Given the description of an element on the screen output the (x, y) to click on. 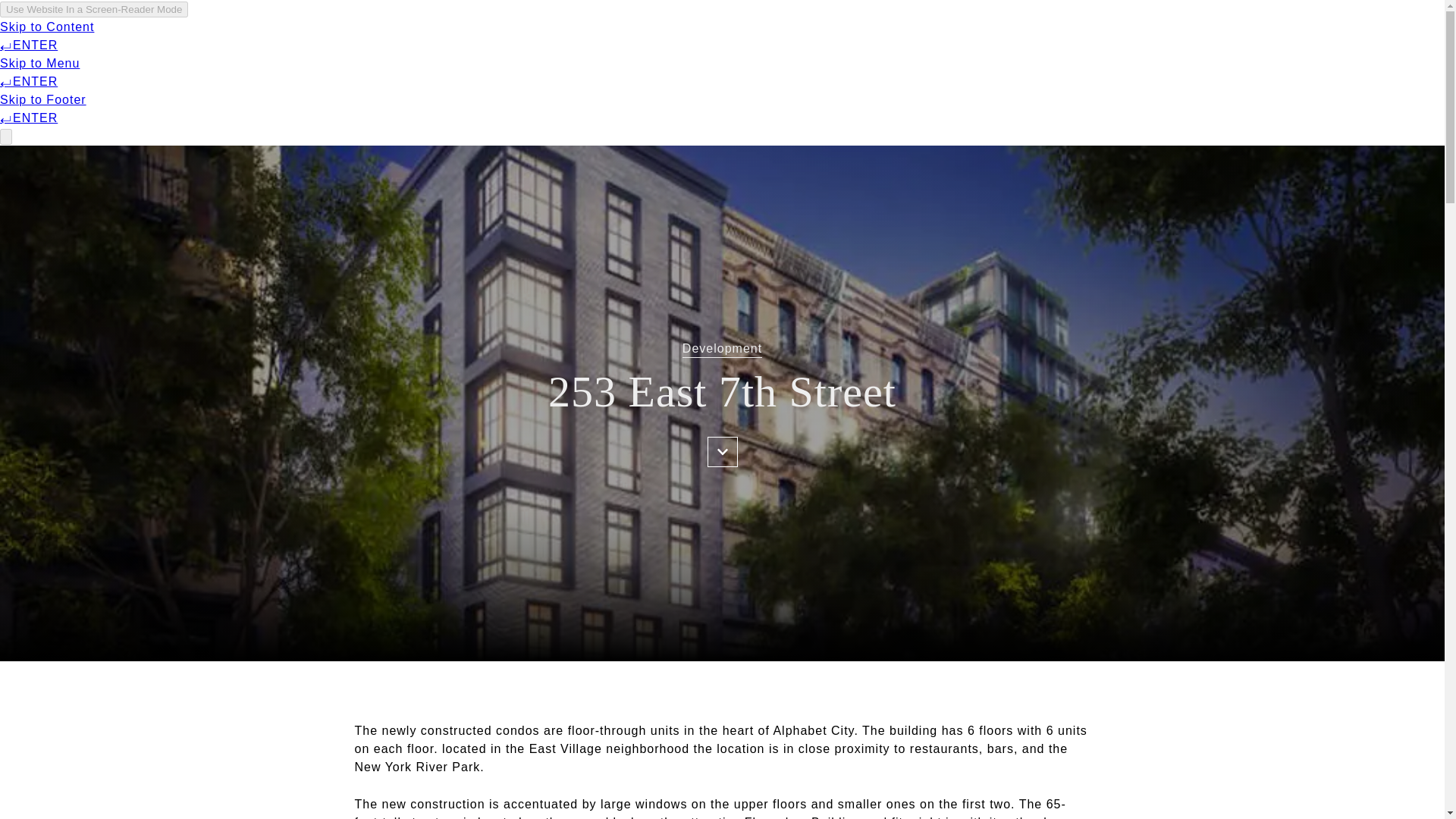
Menu (187, 35)
Brooklyn (1168, 35)
Contact (1247, 35)
Lower Manhattan (1050, 35)
Menu (197, 35)
Sellers (345, 35)
Buyers (266, 35)
